Given the description of an element on the screen output the (x, y) to click on. 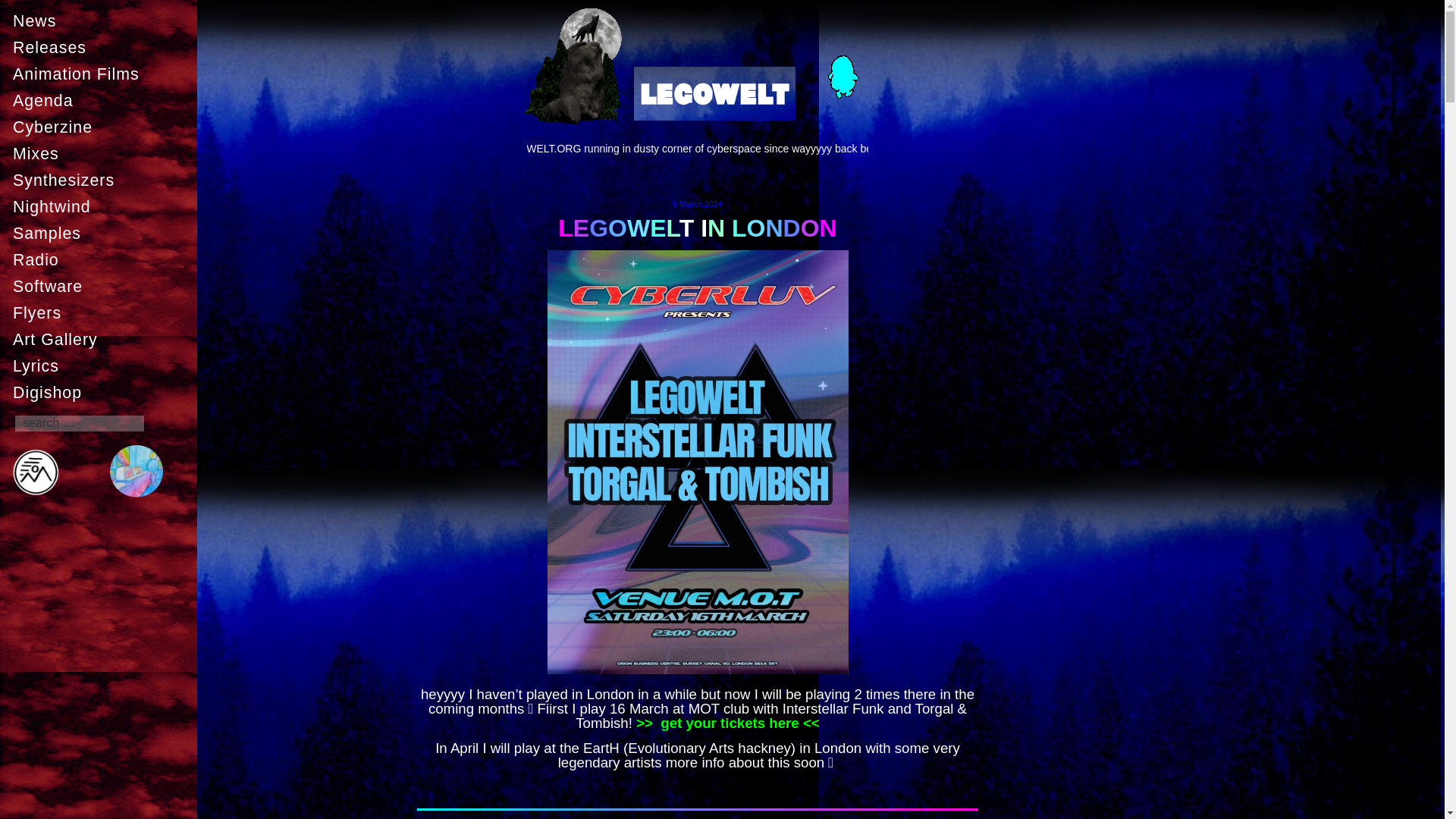
Art Gallery (102, 339)
Search for: (79, 423)
Radio (102, 259)
Software (102, 286)
Nightwind (102, 206)
Cyberzine (102, 127)
Digishop (102, 392)
Animation Films (102, 73)
Synthesizers (102, 180)
News (102, 20)
